Given the description of an element on the screen output the (x, y) to click on. 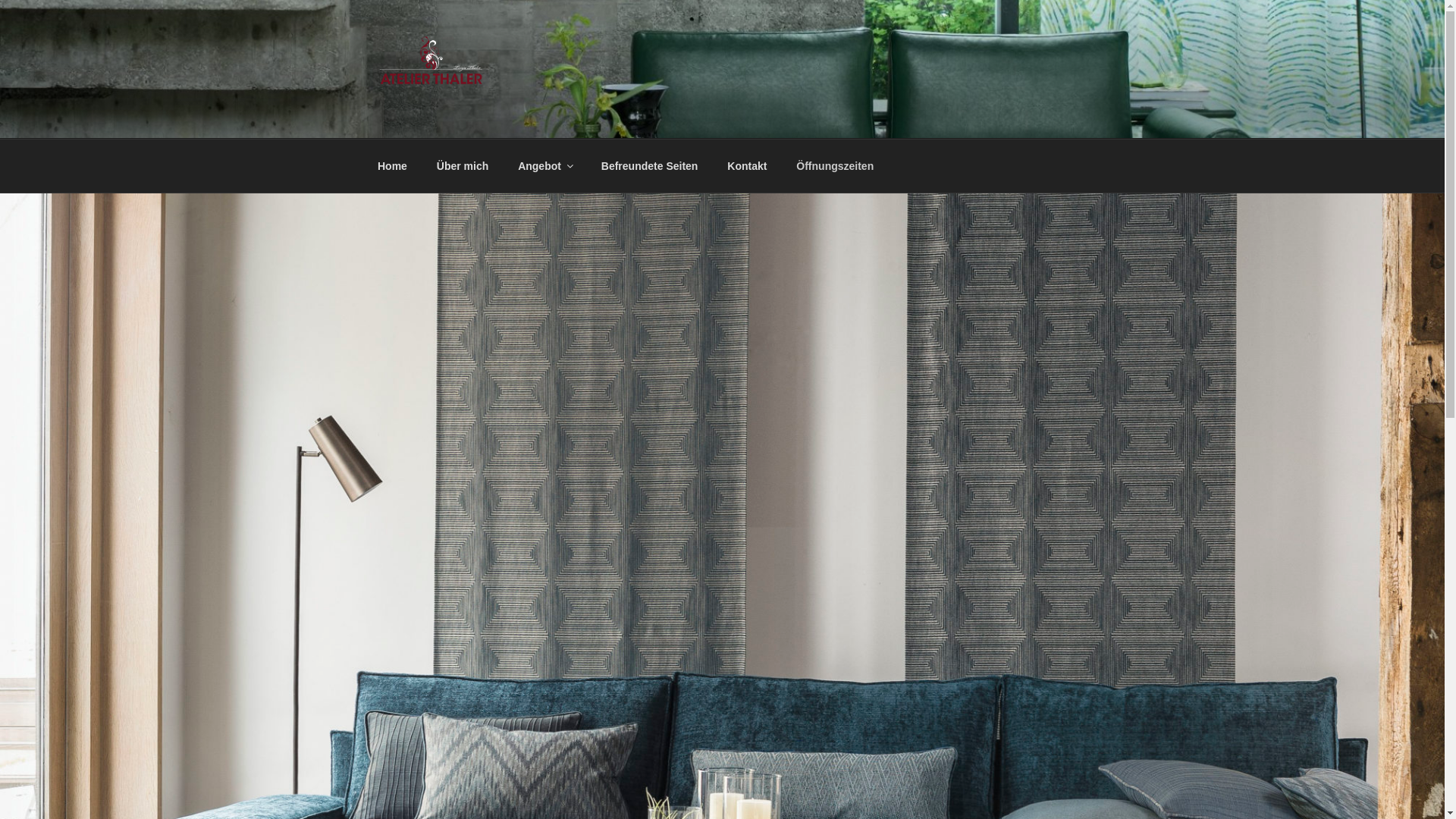
Angebot Element type: text (545, 165)
Kontakt Element type: text (747, 165)
ATELIER-THALER.CH Element type: text (538, 118)
Home Element type: text (392, 165)
Befreundete Seiten Element type: text (649, 165)
